Given the description of an element on the screen output the (x, y) to click on. 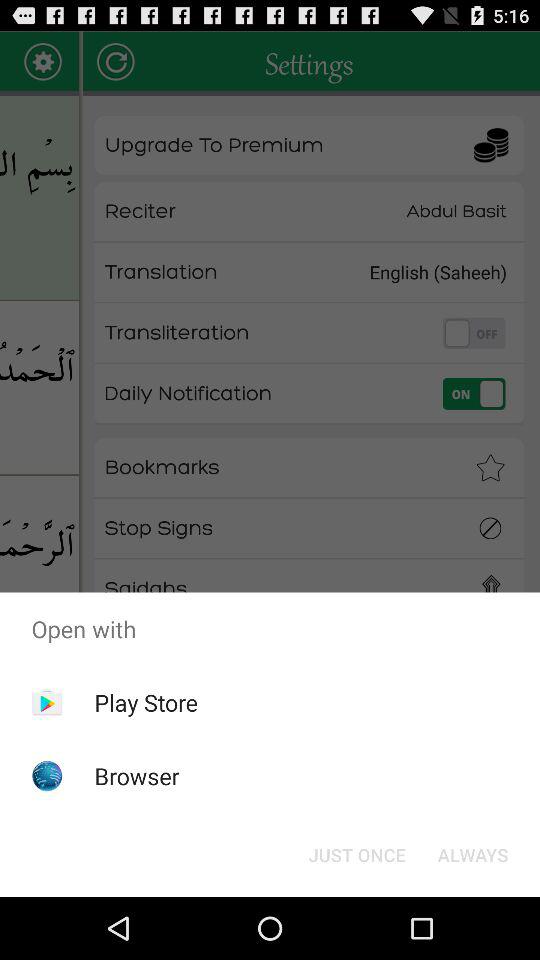
launch item next to always item (356, 854)
